Given the description of an element on the screen output the (x, y) to click on. 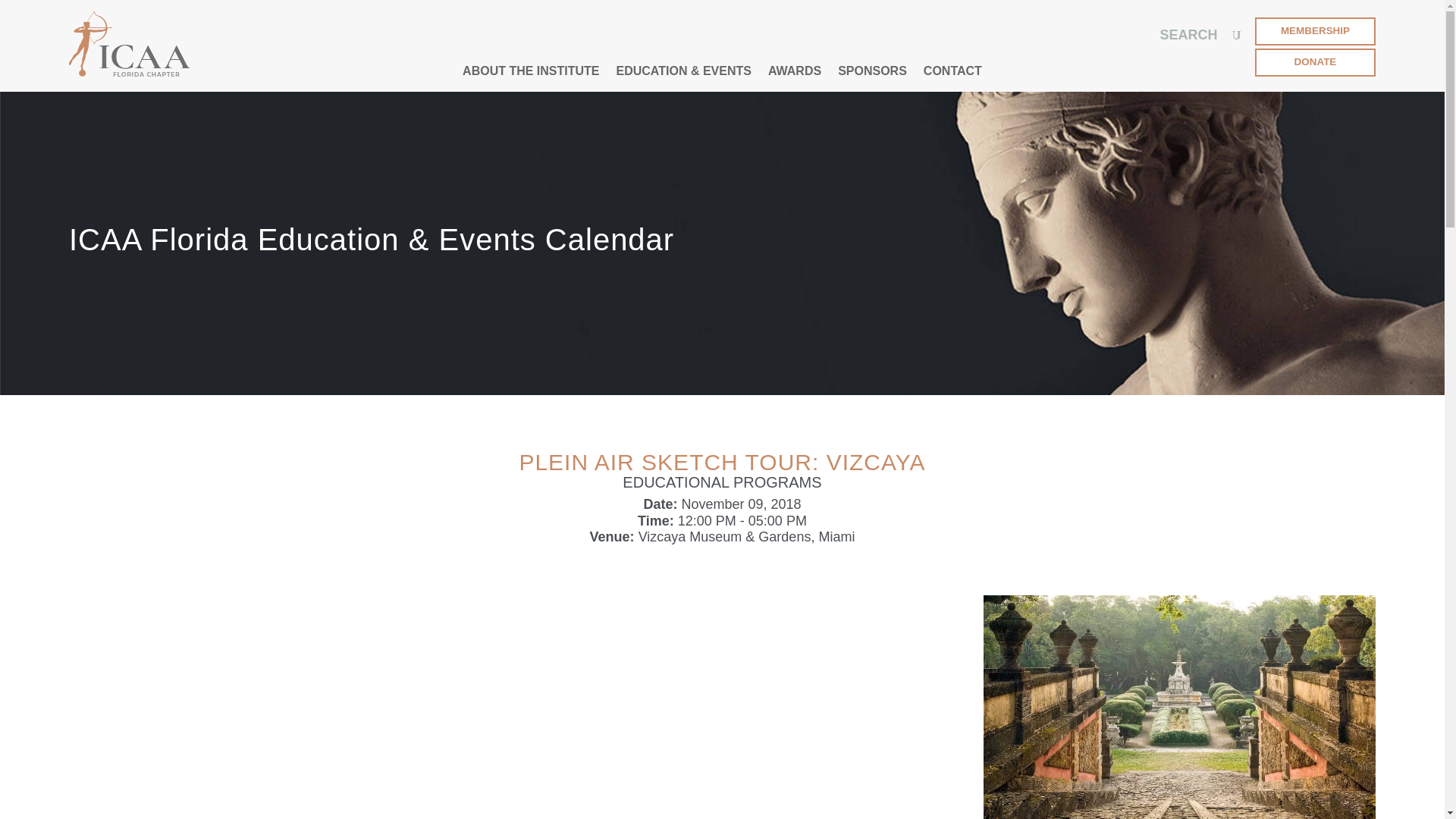
SPONSORS (872, 70)
CONTACT (952, 70)
AWARDS (794, 70)
ICAA FLorida Chapter (129, 43)
ABOUT THE INSTITUTE (530, 70)
